Given the description of an element on the screen output the (x, y) to click on. 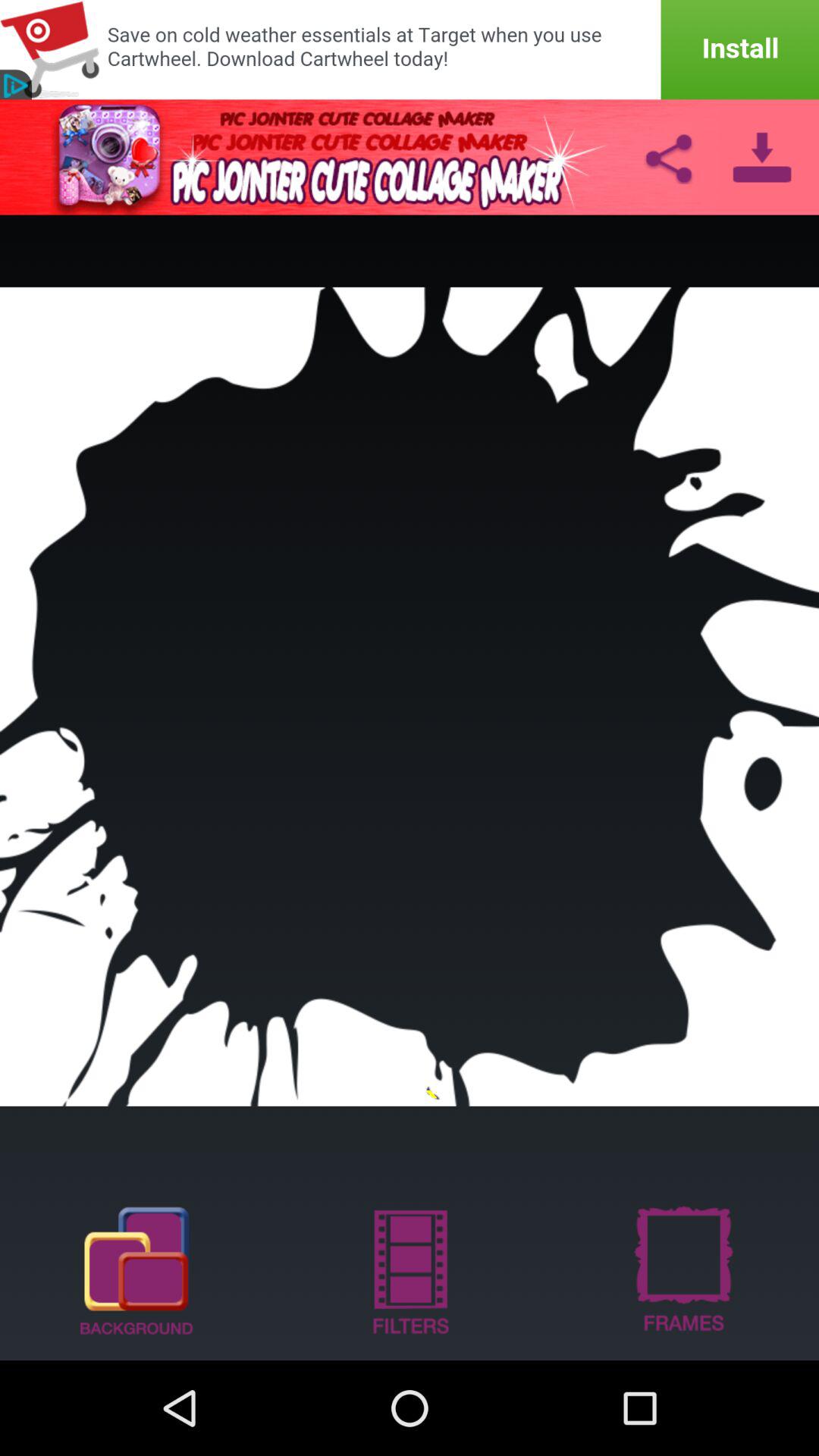
download (762, 156)
